Given the description of an element on the screen output the (x, y) to click on. 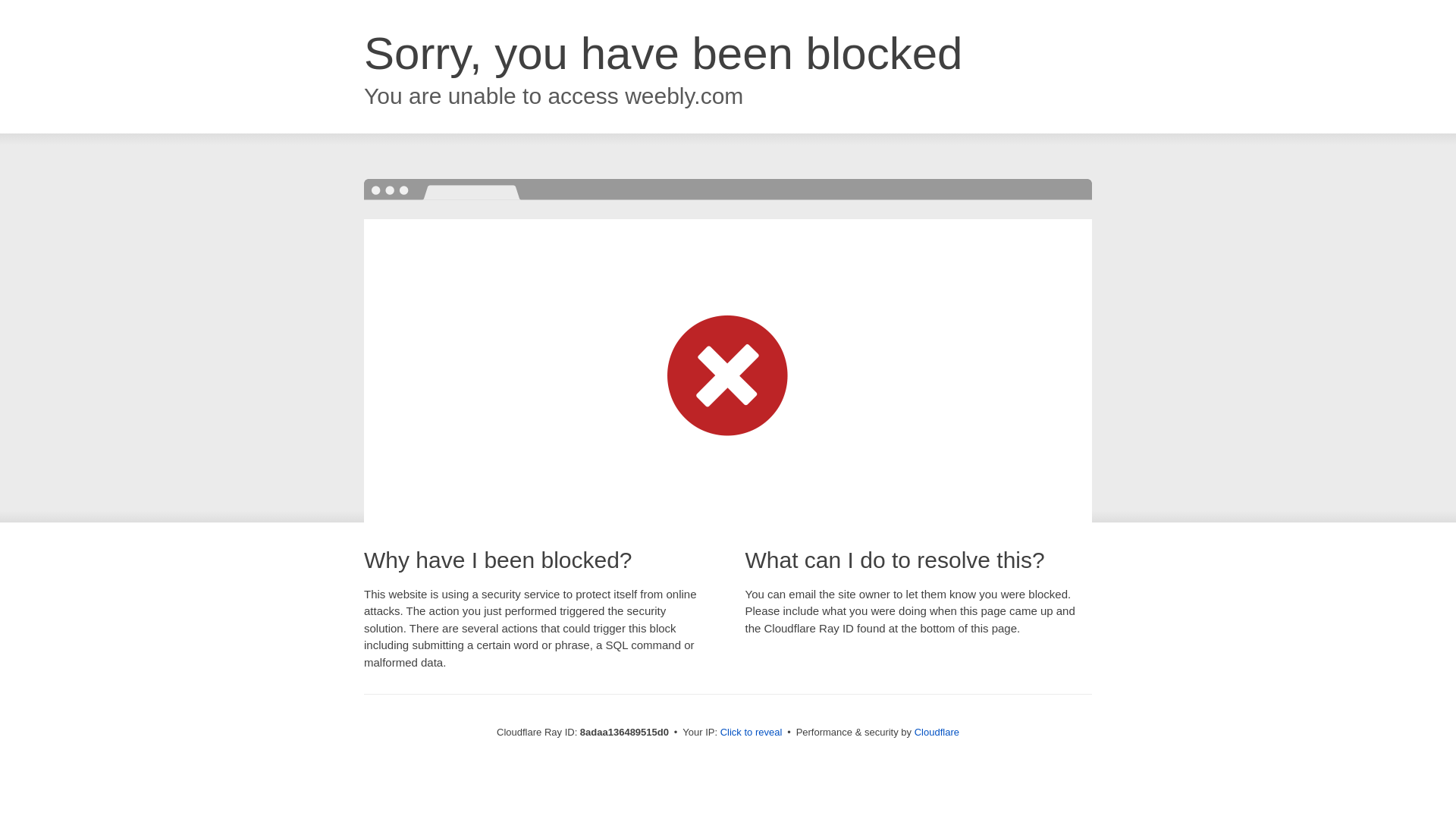
Cloudflare (936, 731)
Click to reveal (751, 732)
